Given the description of an element on the screen output the (x, y) to click on. 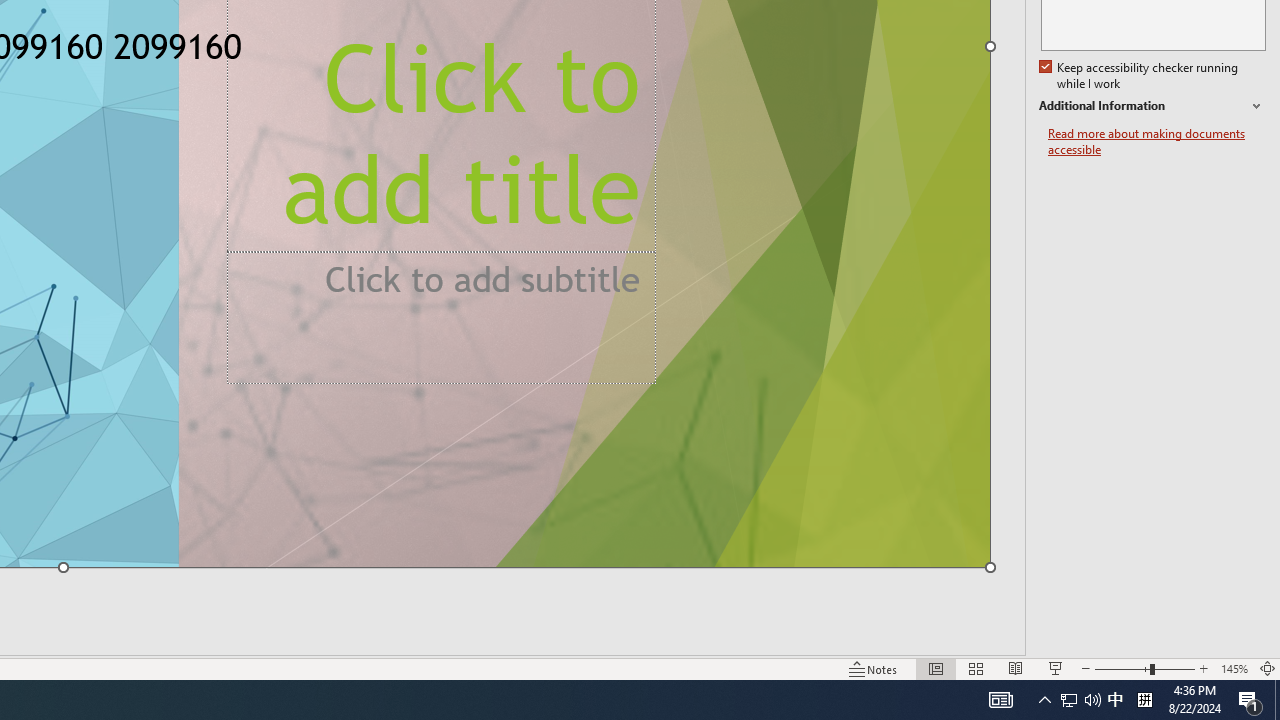
Zoom 145% (1234, 668)
